Given the description of an element on the screen output the (x, y) to click on. 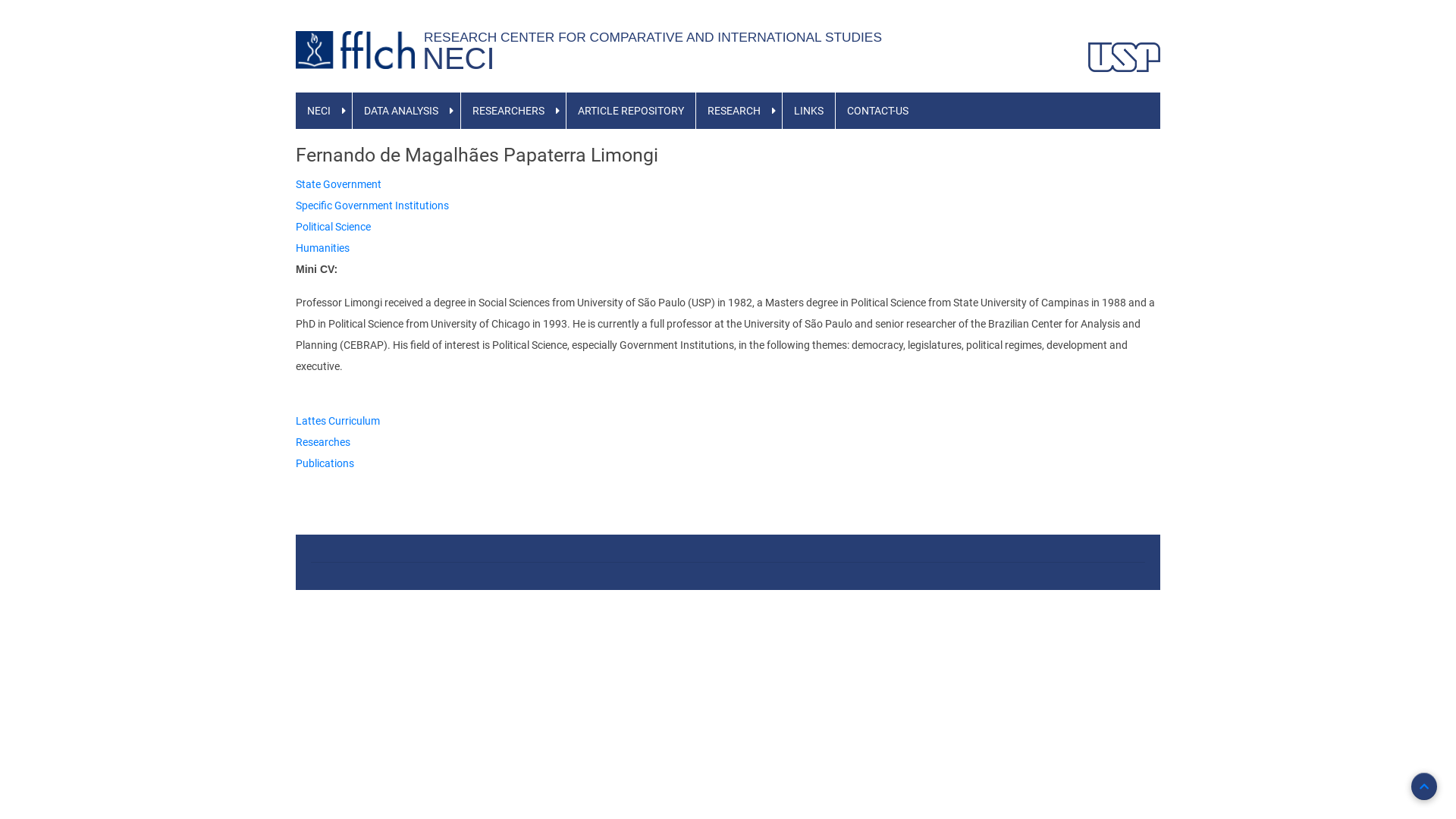
NECI Element type: text (458, 58)
Political Science Element type: text (332, 226)
Humanities Element type: text (322, 247)
Back to Top Element type: hover (1424, 786)
LINKS Element type: text (808, 110)
Lattes Curriculum Element type: text (337, 420)
RESEARCHERS Element type: text (508, 110)
Specific Government Institutions Element type: text (371, 205)
Researches Element type: text (322, 442)
Publications Element type: text (324, 463)
DATA ANALYSIS Element type: text (400, 110)
CONTACT-US Element type: text (877, 110)
State Government Element type: text (338, 184)
RESEARCH CENTER FOR COMPARATIVE AND INTERNATIONAL STUDIES   Element type: text (656, 36)
RESEARCH Element type: text (733, 110)
NECI Element type: text (318, 110)
ARTICLE REPOSITORY Element type: text (630, 110)
Skip to main content Element type: text (0, 0)
